Given the description of an element on the screen output the (x, y) to click on. 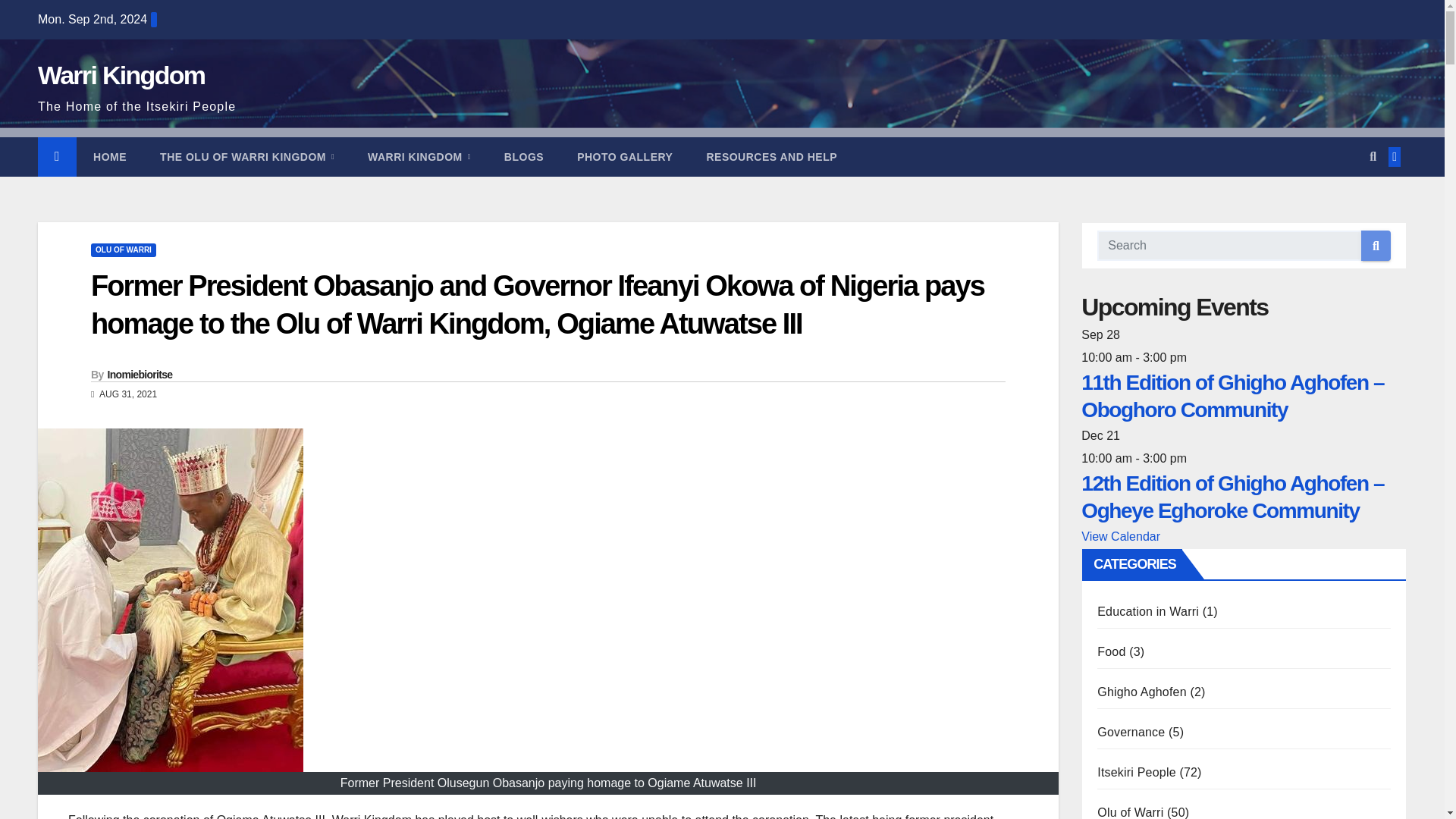
RESOURCES AND HELP (770, 156)
Home (109, 156)
PHOTO GALLERY (624, 156)
HOME (109, 156)
Resources and Help (770, 156)
THE OLU OF WARRI KINGDOM (246, 156)
WARRI KINGDOM (418, 156)
Inomiebioritse (140, 374)
OLU OF WARRI (122, 250)
